Given the description of an element on the screen output the (x, y) to click on. 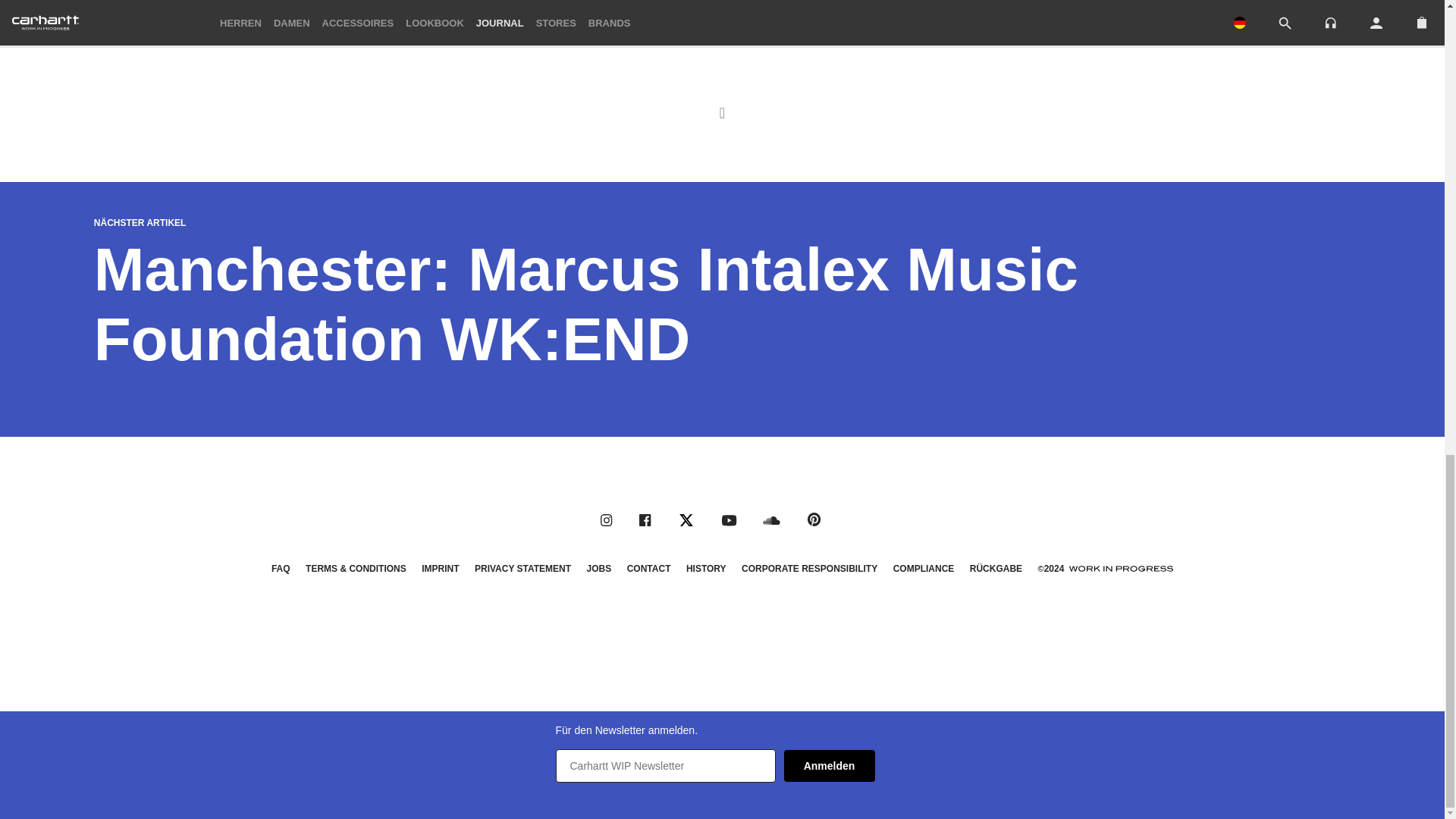
Social-facebook Created with Sketch. (644, 520)
Anmelden (829, 766)
Social-Soundcloud Created with Sketch. (771, 520)
Social-Pinterest Created with Sketch. (814, 519)
Social-Twitter (686, 520)
